Given the description of an element on the screen output the (x, y) to click on. 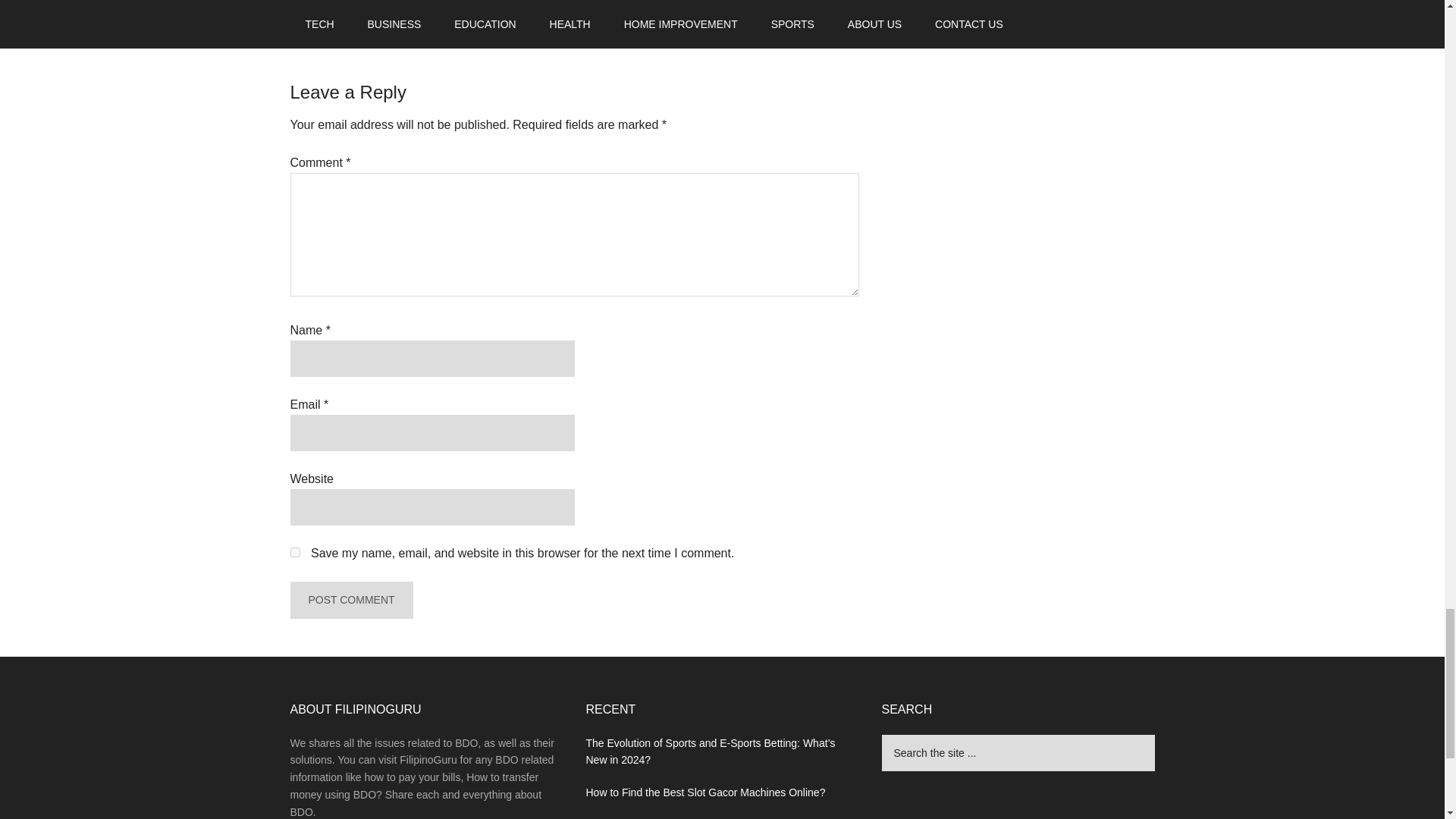
Tech (362, 9)
yes (294, 552)
Post Comment (350, 599)
Post Comment (350, 599)
